Given the description of an element on the screen output the (x, y) to click on. 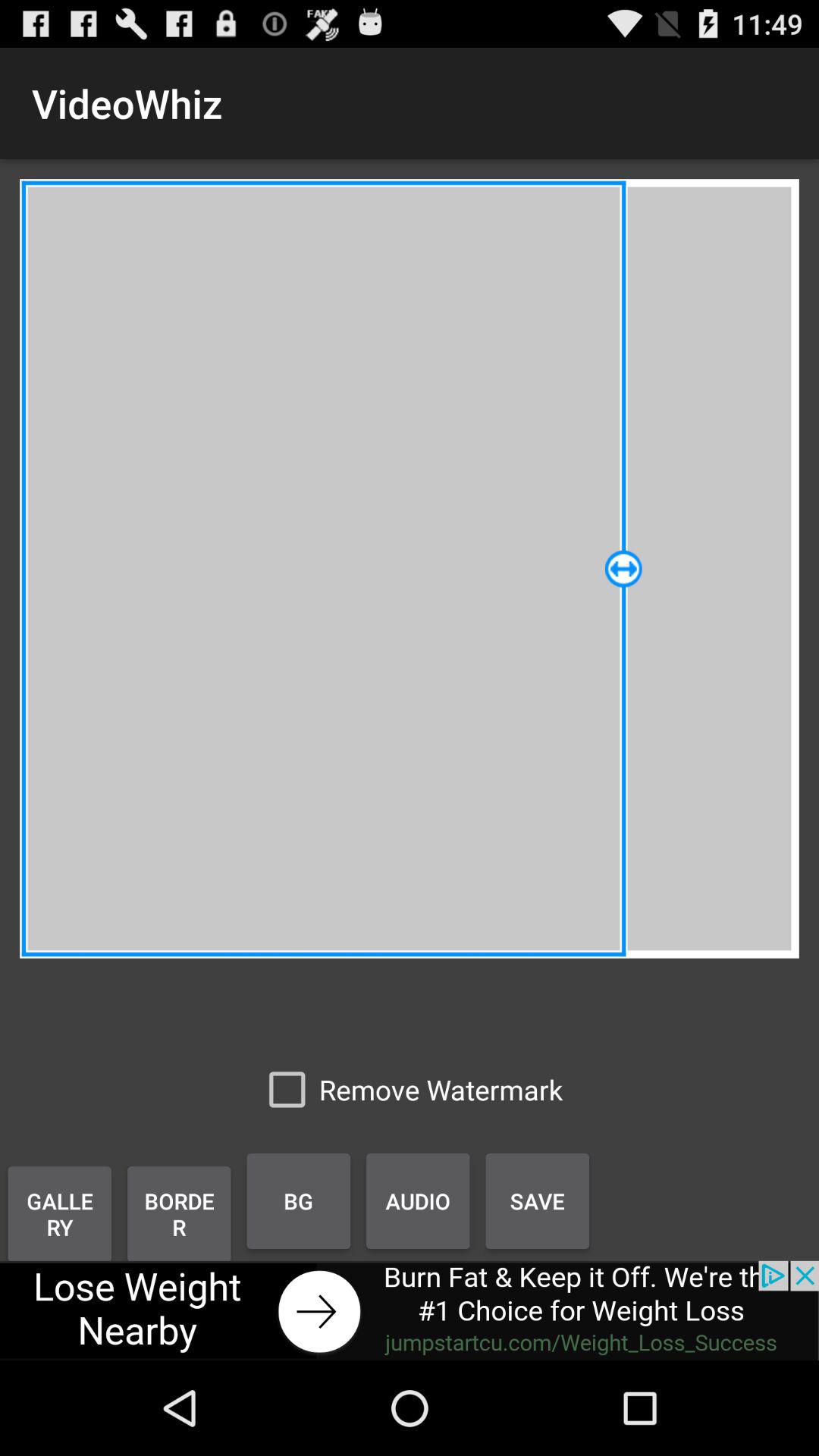
click for advertisement (409, 1310)
